Given the description of an element on the screen output the (x, y) to click on. 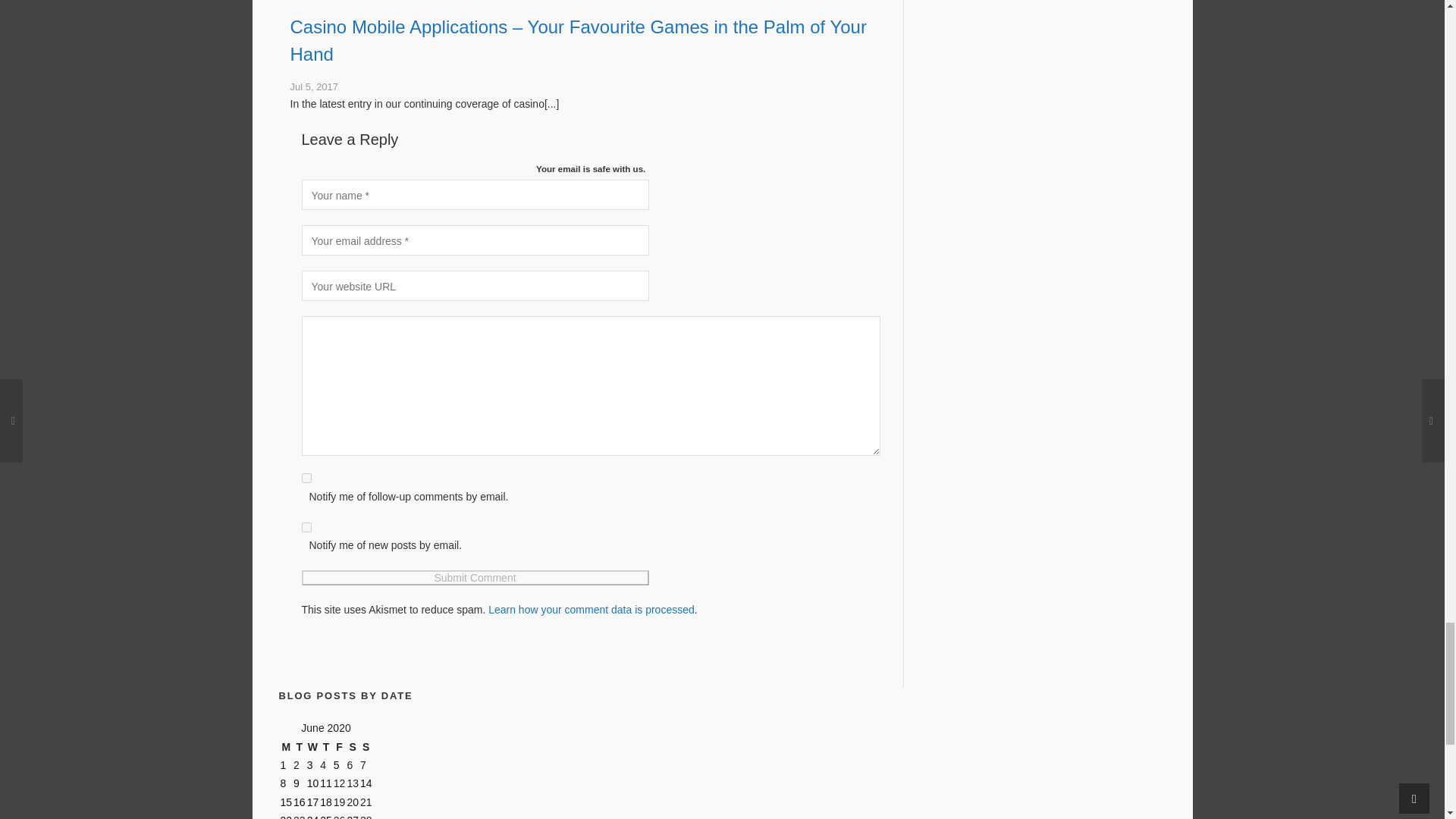
Submit Comment (475, 577)
subscribe (306, 478)
subscribe (306, 527)
